Given the description of an element on the screen output the (x, y) to click on. 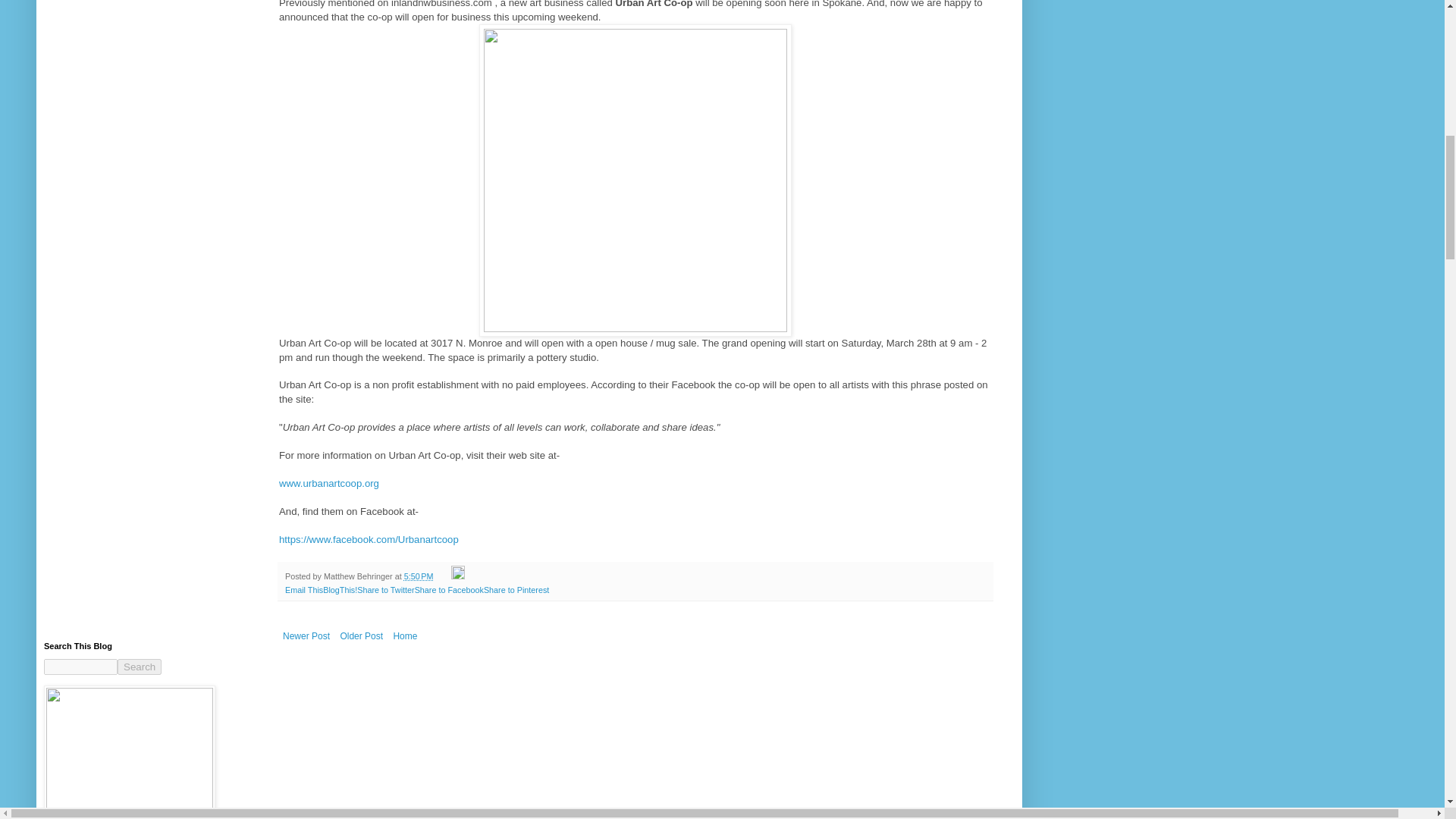
search (139, 666)
BlogThis! (339, 589)
Email This (304, 589)
Older Post (361, 636)
Share to Twitter (384, 589)
Newer Post (306, 636)
search (80, 666)
Share to Twitter (384, 589)
Older Post (361, 636)
Email Post (443, 575)
Search (139, 666)
Share to Pinterest (515, 589)
Share to Pinterest (515, 589)
www.urbanartcoop.org (328, 482)
Home (404, 636)
